Given the description of an element on the screen output the (x, y) to click on. 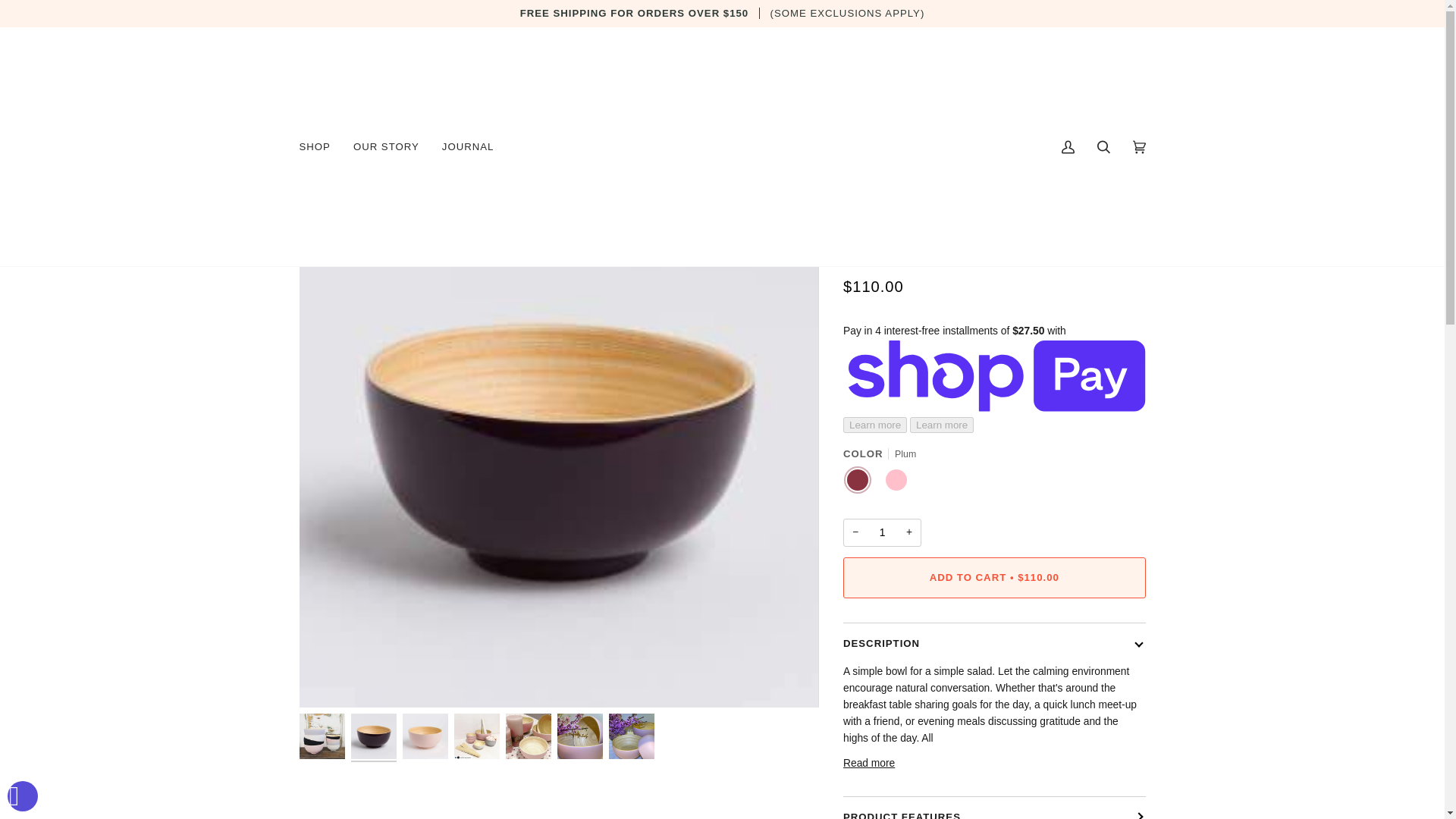
1 (882, 532)
Back to the frontpage (317, 142)
